Given the description of an element on the screen output the (x, y) to click on. 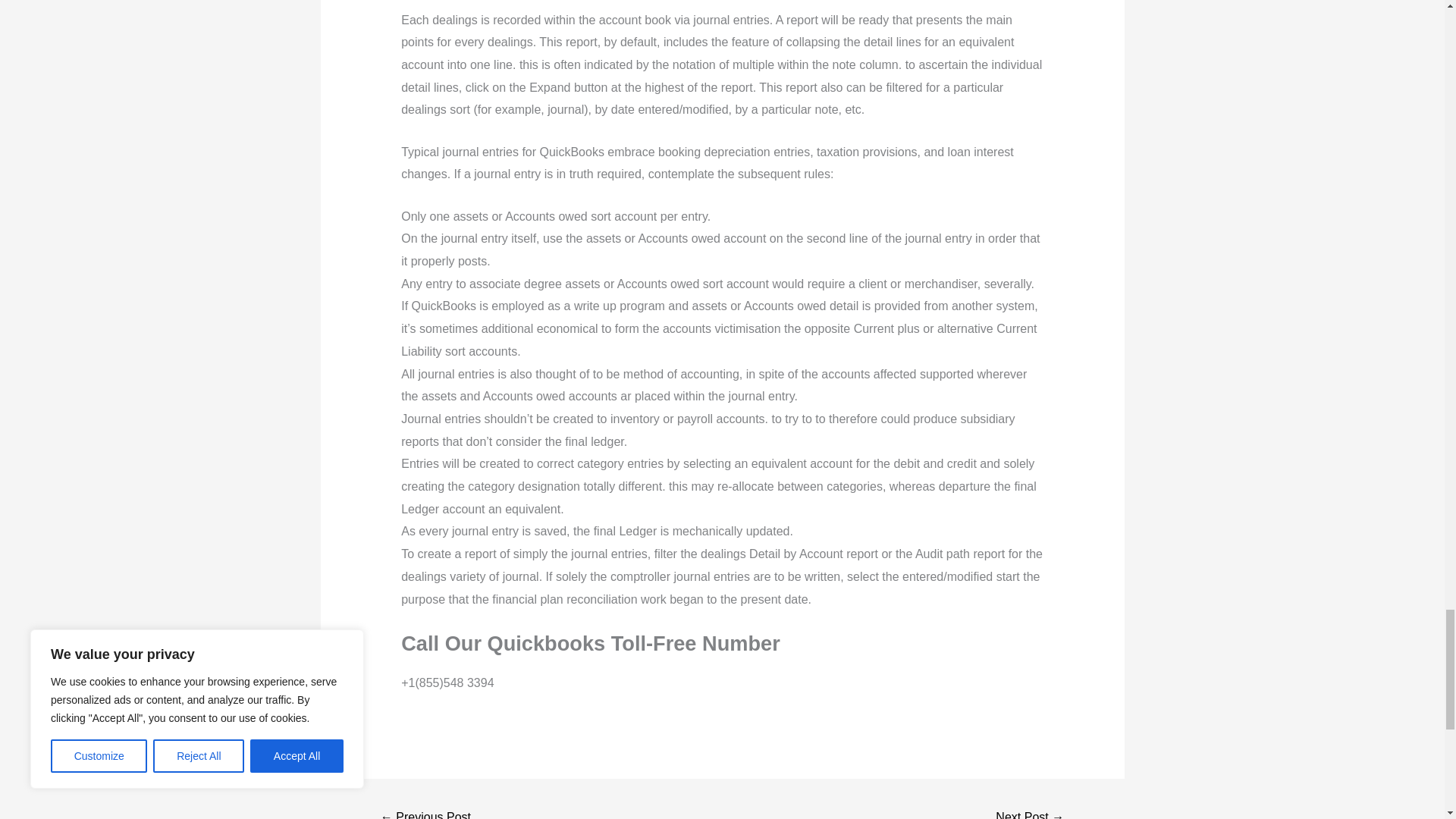
Call Our Quickbooks Toll-Free Number (425, 811)
